Given the description of an element on the screen output the (x, y) to click on. 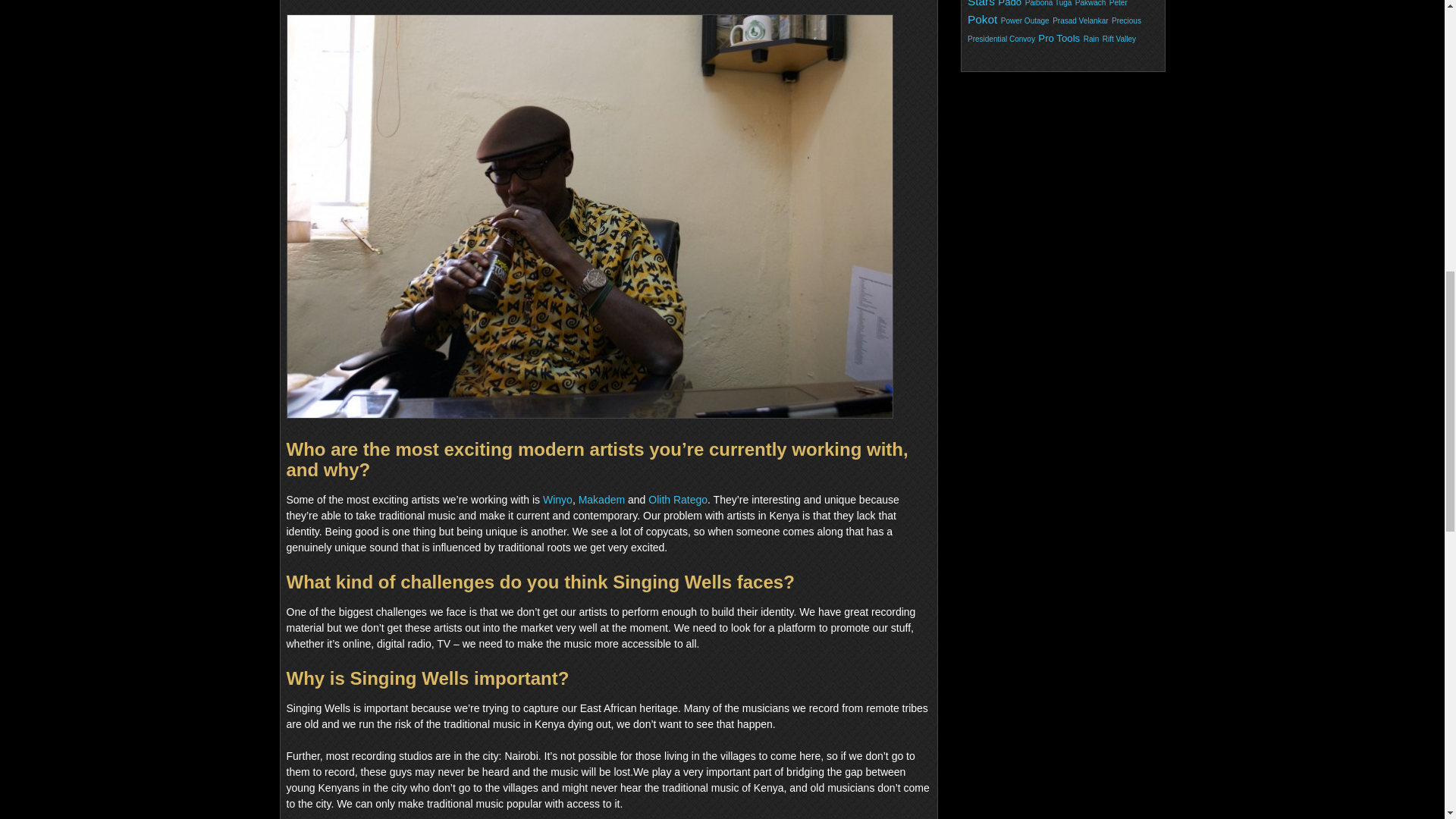
Olith Ratego (677, 499)
Winyo (557, 499)
Makadem (601, 499)
